Given the description of an element on the screen output the (x, y) to click on. 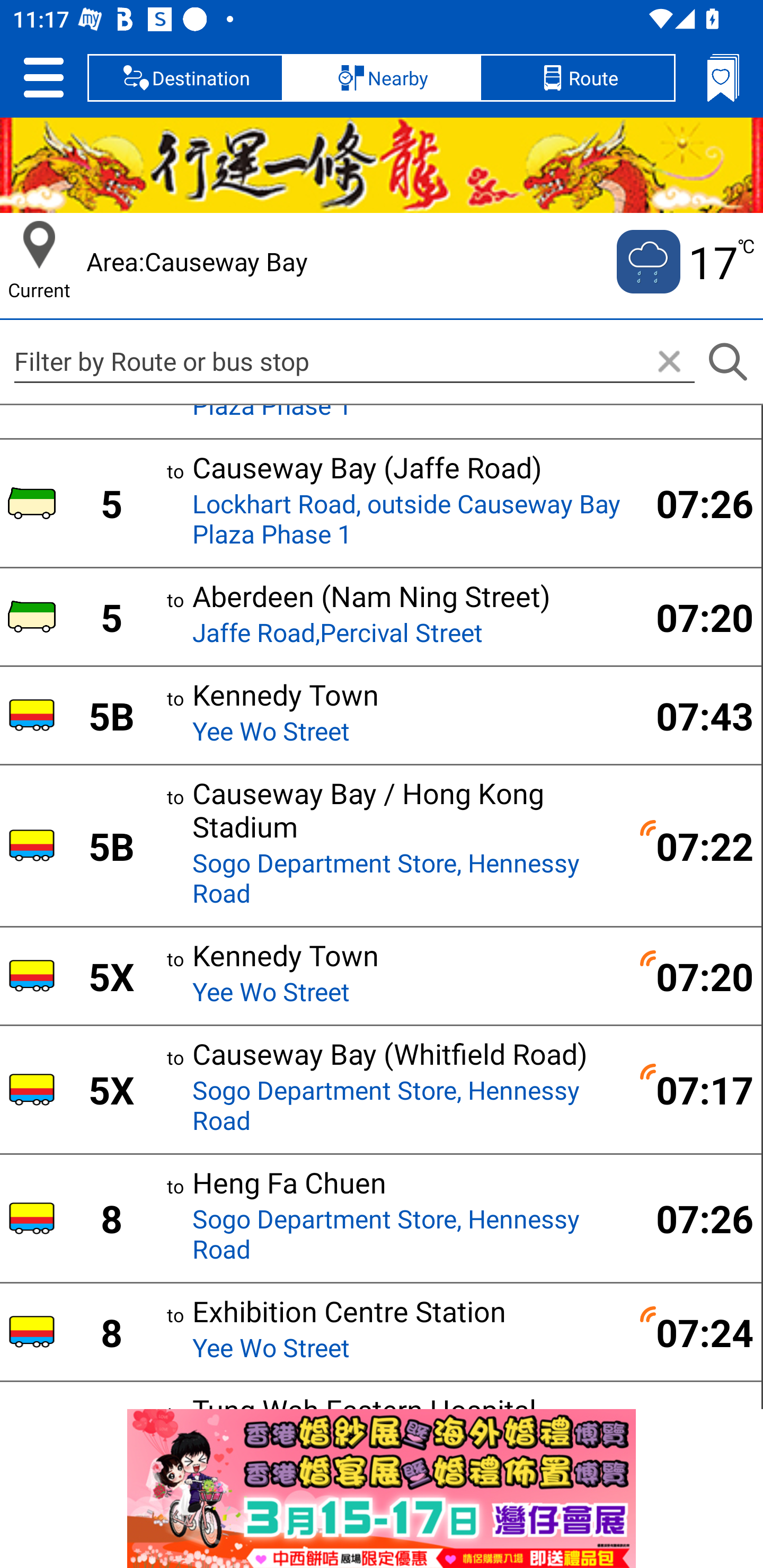
Destination (185, 77)
Nearby, selected (381, 77)
Route (577, 77)
Bookmarks (723, 77)
Setting (43, 77)
Lunar New Year 2024 (381, 165)
Current Location (38, 244)
Current temputure is  17  no 17 ℃ (684, 261)
Filter by Route or bus stop (354, 361)
Search (727, 362)
Clear (669, 361)
07:26 (693, 502)
07:20 (693, 616)
07:43 (693, 715)
07:22 (693, 845)
07:20 (693, 975)
07:17 (693, 1088)
07:26 (693, 1217)
07:24 (693, 1331)
index (381, 1488)
